Given the description of an element on the screen output the (x, y) to click on. 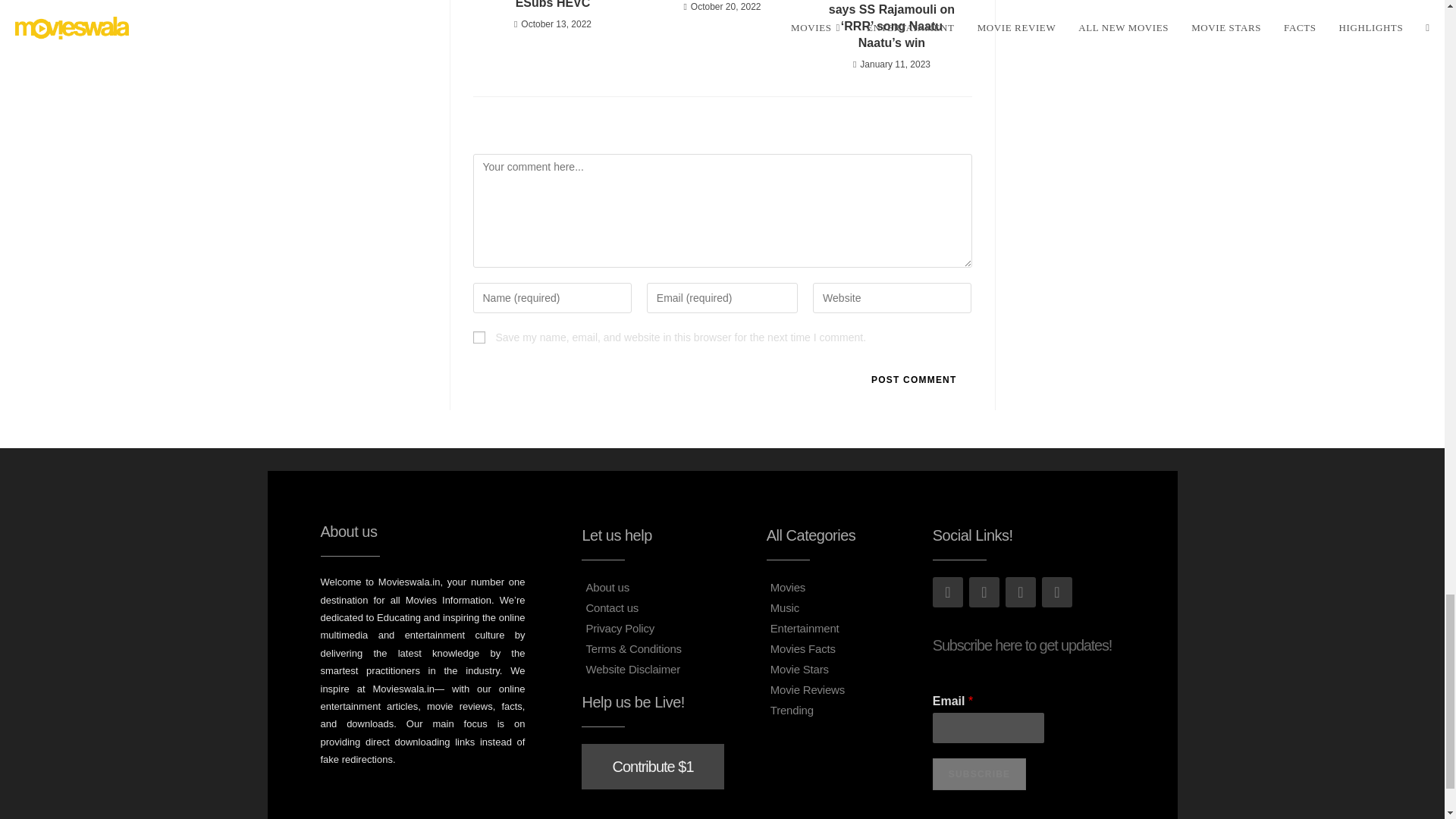
Karthikeya 2 2022 Hindi 1080p 720p 480p HDRip ESubs HEVC (552, 5)
Post Comment (913, 379)
Post Comment (913, 379)
yes (478, 337)
